Given the description of an element on the screen output the (x, y) to click on. 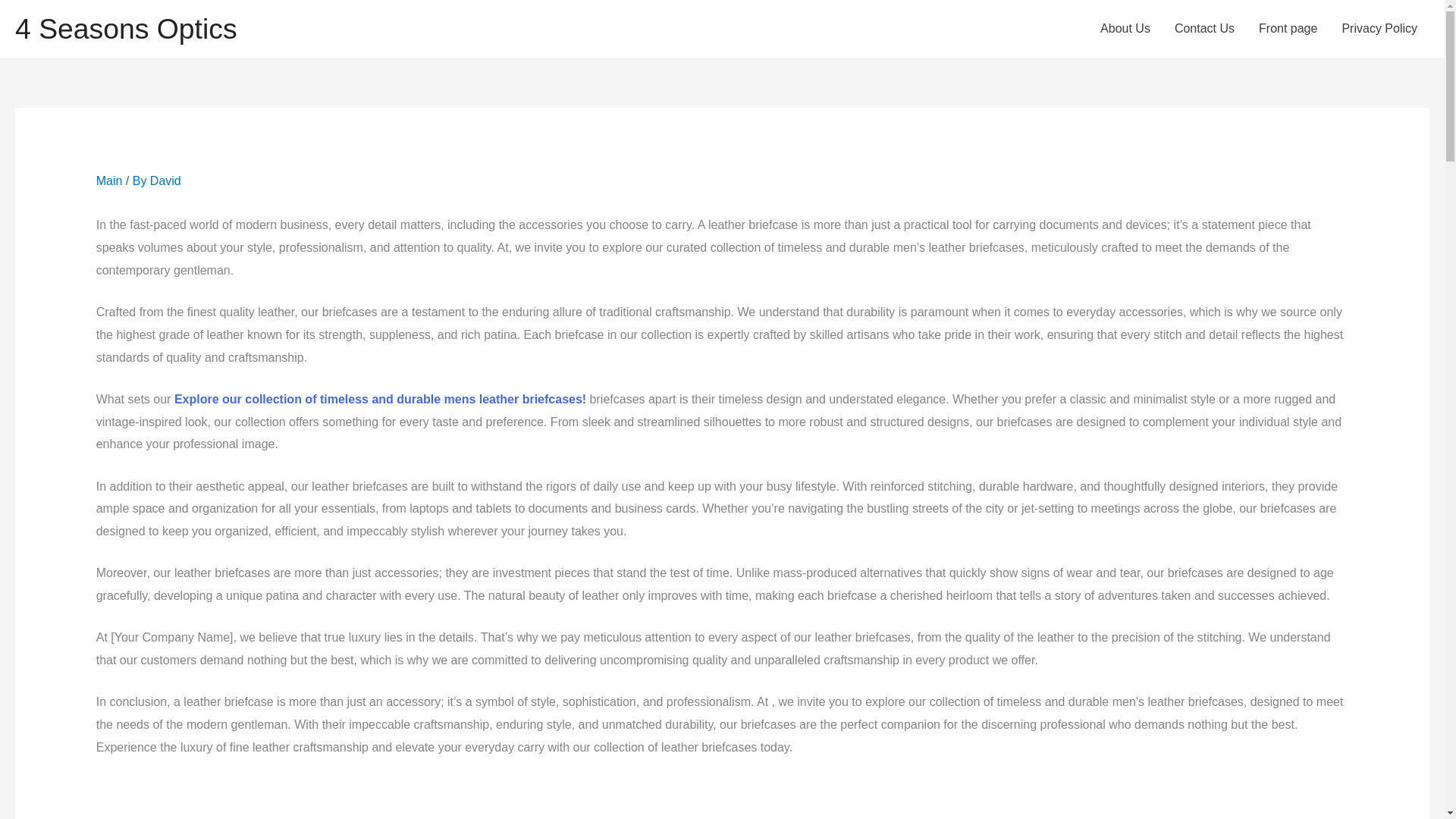
David (164, 180)
About Us (1124, 29)
Contact Us (1203, 29)
View all posts by David (164, 180)
Front page (1287, 29)
Privacy Policy (1379, 29)
4 Seasons Optics (125, 29)
Main (109, 180)
